Given the description of an element on the screen output the (x, y) to click on. 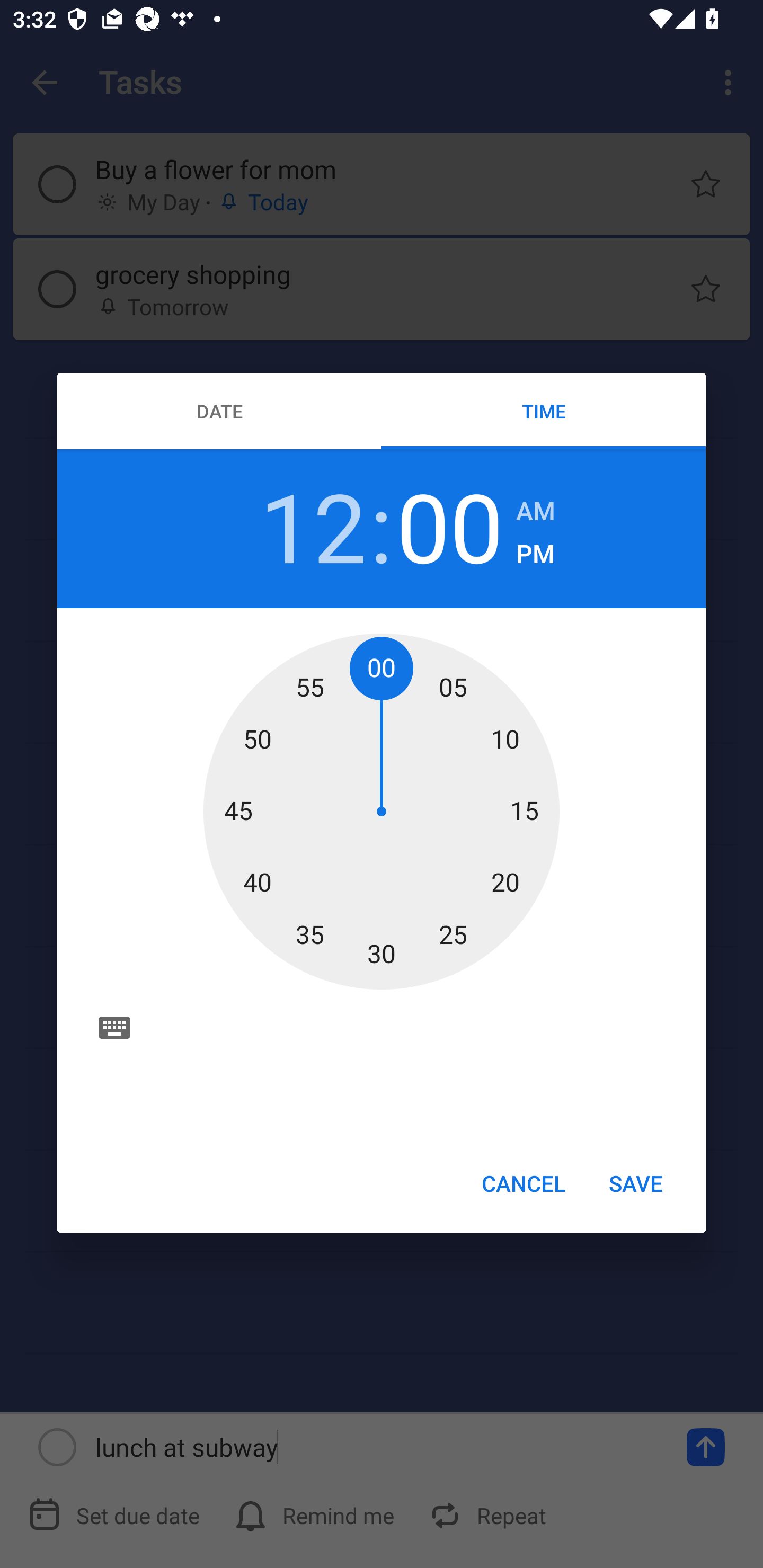
SAVE (635, 1182)
